Given the description of an element on the screen output the (x, y) to click on. 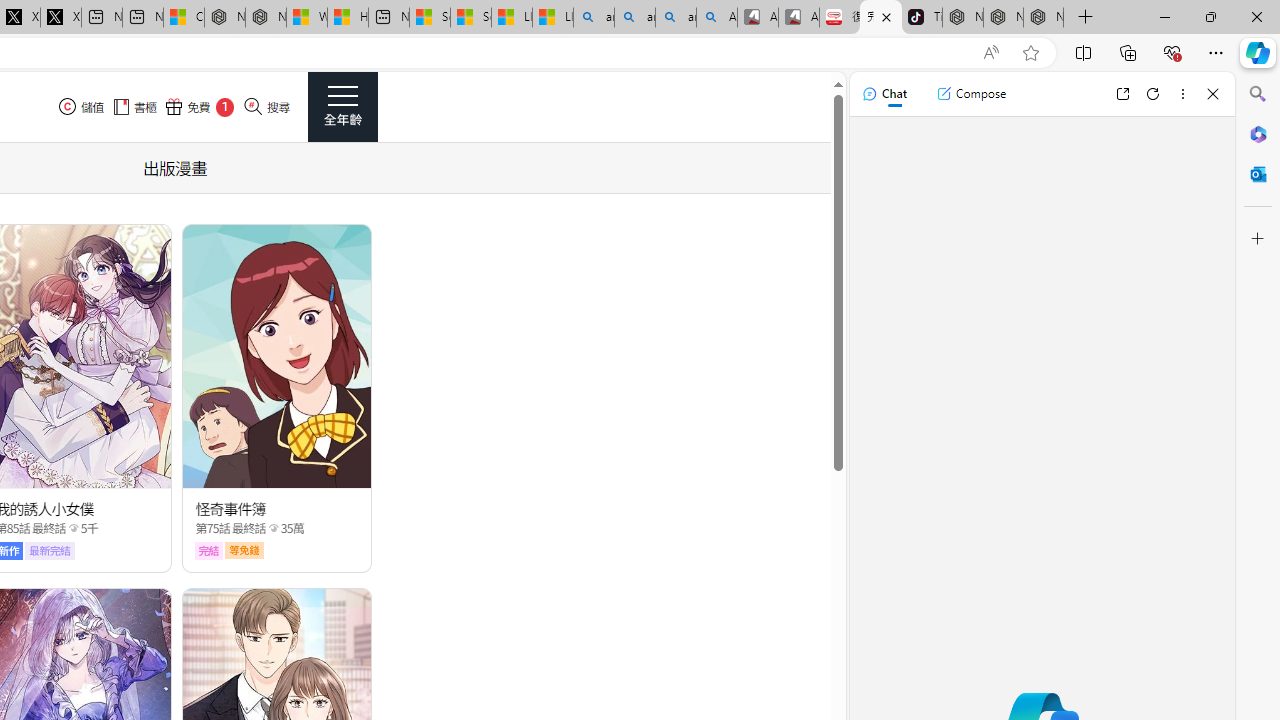
Customize (1258, 239)
Open link in new tab (1122, 93)
Class: epicon_starpoint (273, 527)
Compose (971, 93)
Chat (884, 93)
